Given the description of an element on the screen output the (x, y) to click on. 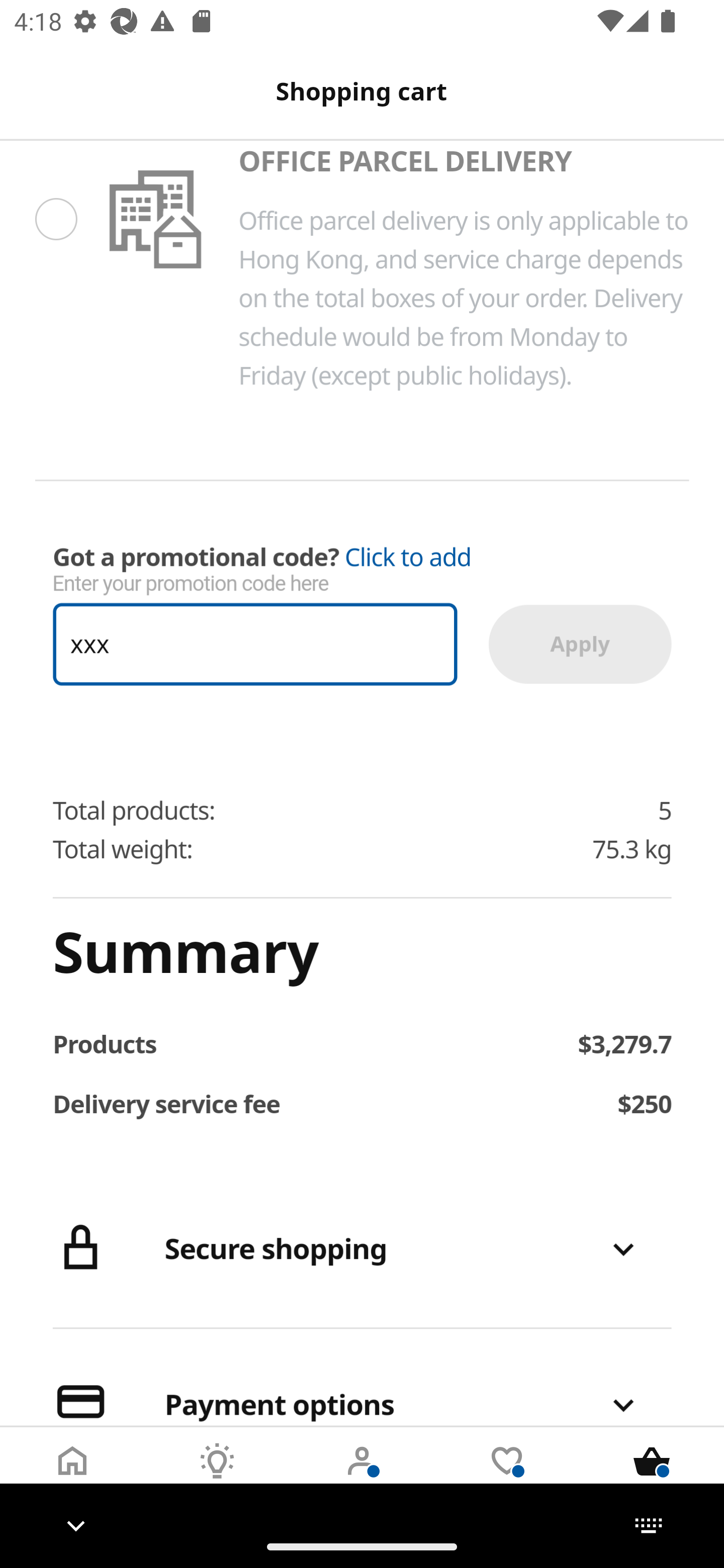
Click to add (408, 557)
Home
Tab 1 of 5 (72, 1476)
Inspirations
Tab 2 of 5 (216, 1476)
User
Tab 3 of 5 (361, 1476)
Wishlist
Tab 4 of 5 (506, 1476)
Cart
Tab 5 of 5 (651, 1476)
